Given the description of an element on the screen output the (x, y) to click on. 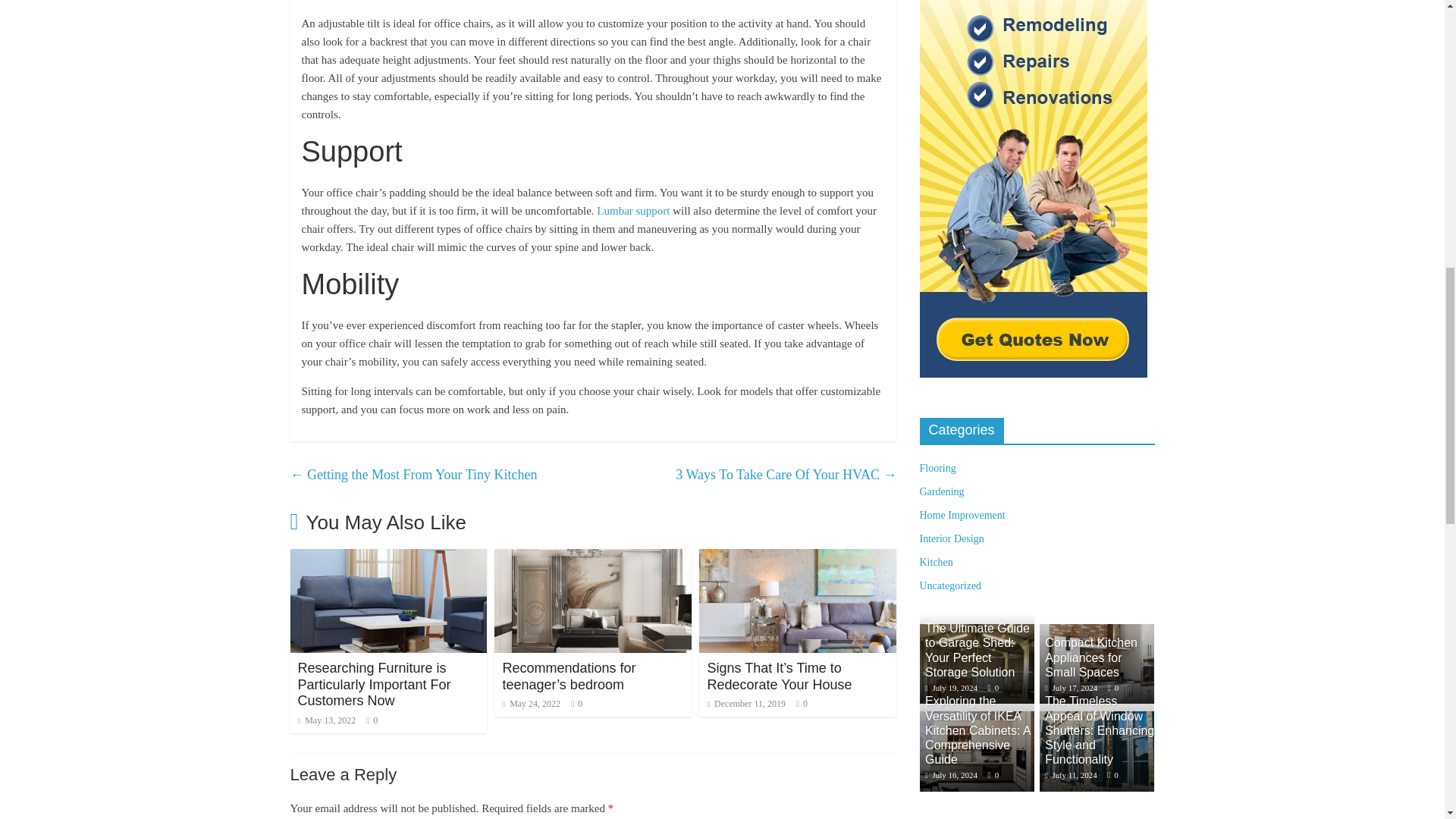
10:43 am (326, 719)
Flooring (936, 468)
May 13, 2022 (326, 719)
1:21 pm (531, 703)
December 11, 2019 (746, 703)
May 24, 2022 (531, 703)
Lumbar support (632, 210)
